Given the description of an element on the screen output the (x, y) to click on. 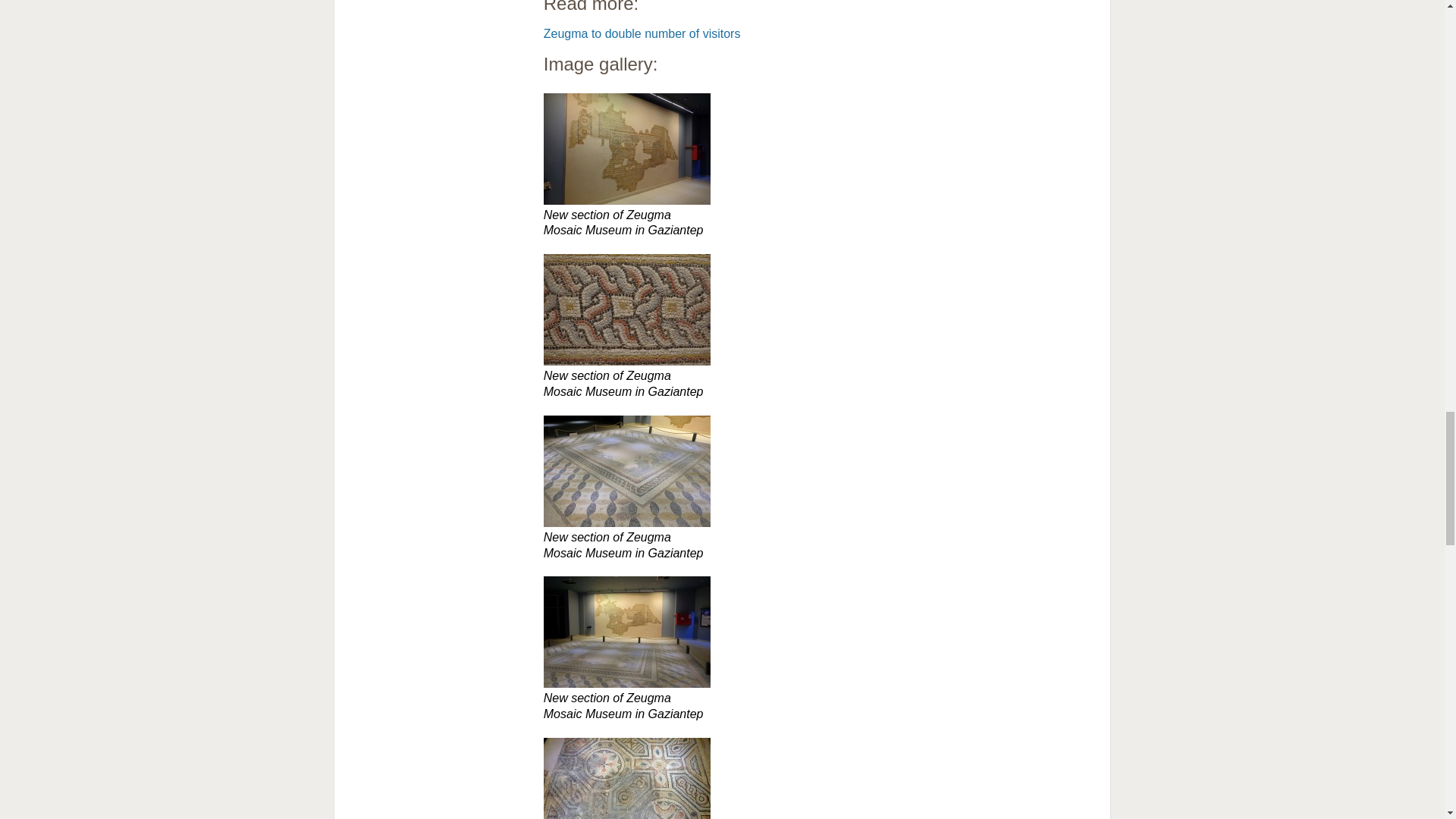
New section of Zeugma Mosaic Museum in Gaziantep (626, 309)
Zeugma to double number of visitors (642, 33)
New section of Zeugma Mosaic Museum in Gaziantep (818, 148)
New section of Zeugma Mosaic Museum in Gaziantep (818, 309)
New section of Zeugma Mosaic Museum in Gaziantep (818, 631)
New section of Zeugma Mosaic Museum in Gaziantep (626, 631)
New section of Zeugma Mosaic Museum in Gaziantep (818, 778)
New section of Zeugma Mosaic Museum in Gaziantep (626, 148)
New section of Zeugma Mosaic Museum in Gaziantep (818, 471)
New section of Zeugma Mosaic Museum in Gaziantep (626, 471)
